Given the description of an element on the screen output the (x, y) to click on. 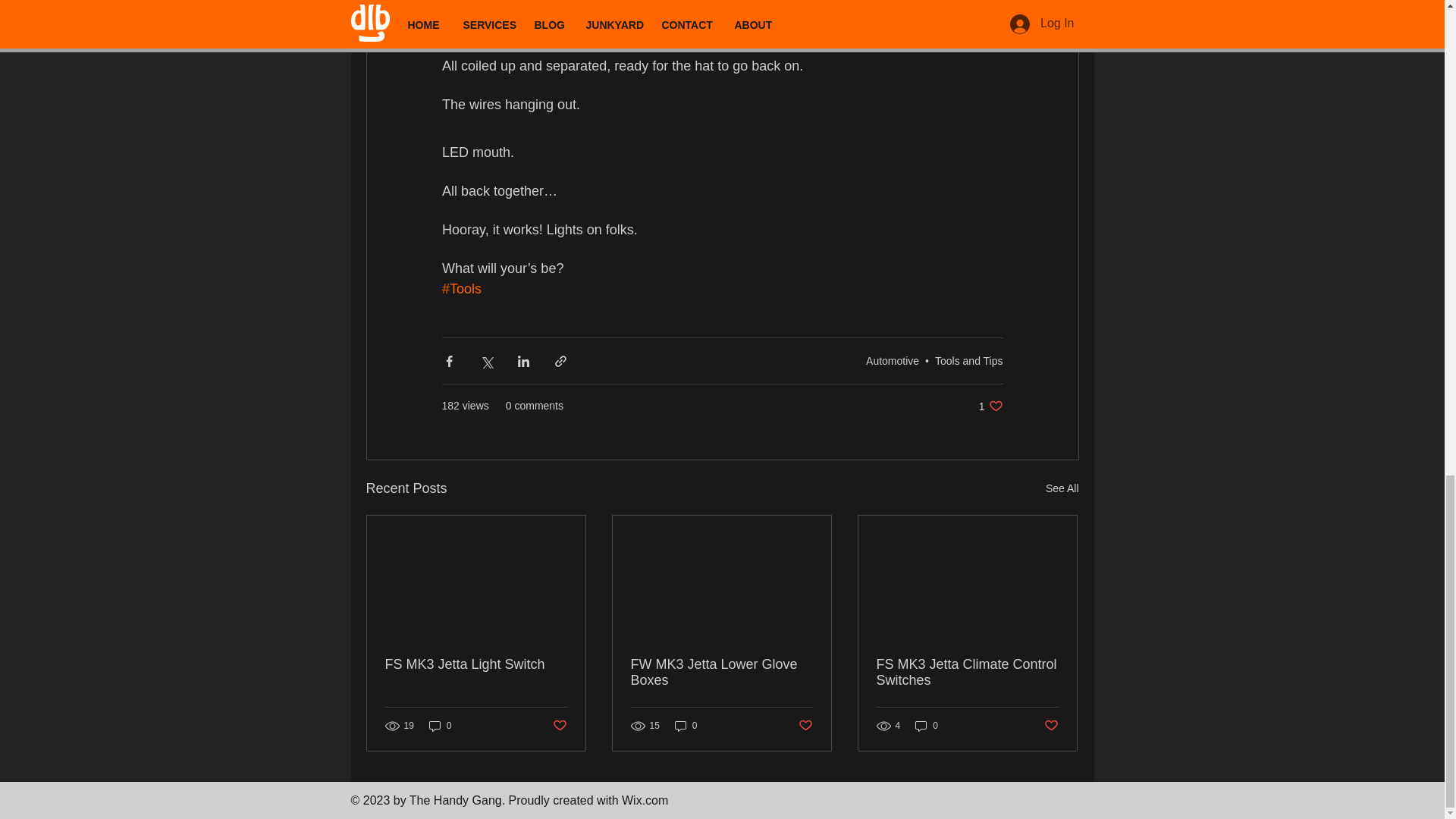
Automotive (892, 359)
See All (990, 405)
Tools and Tips (1061, 488)
